Given the description of an element on the screen output the (x, y) to click on. 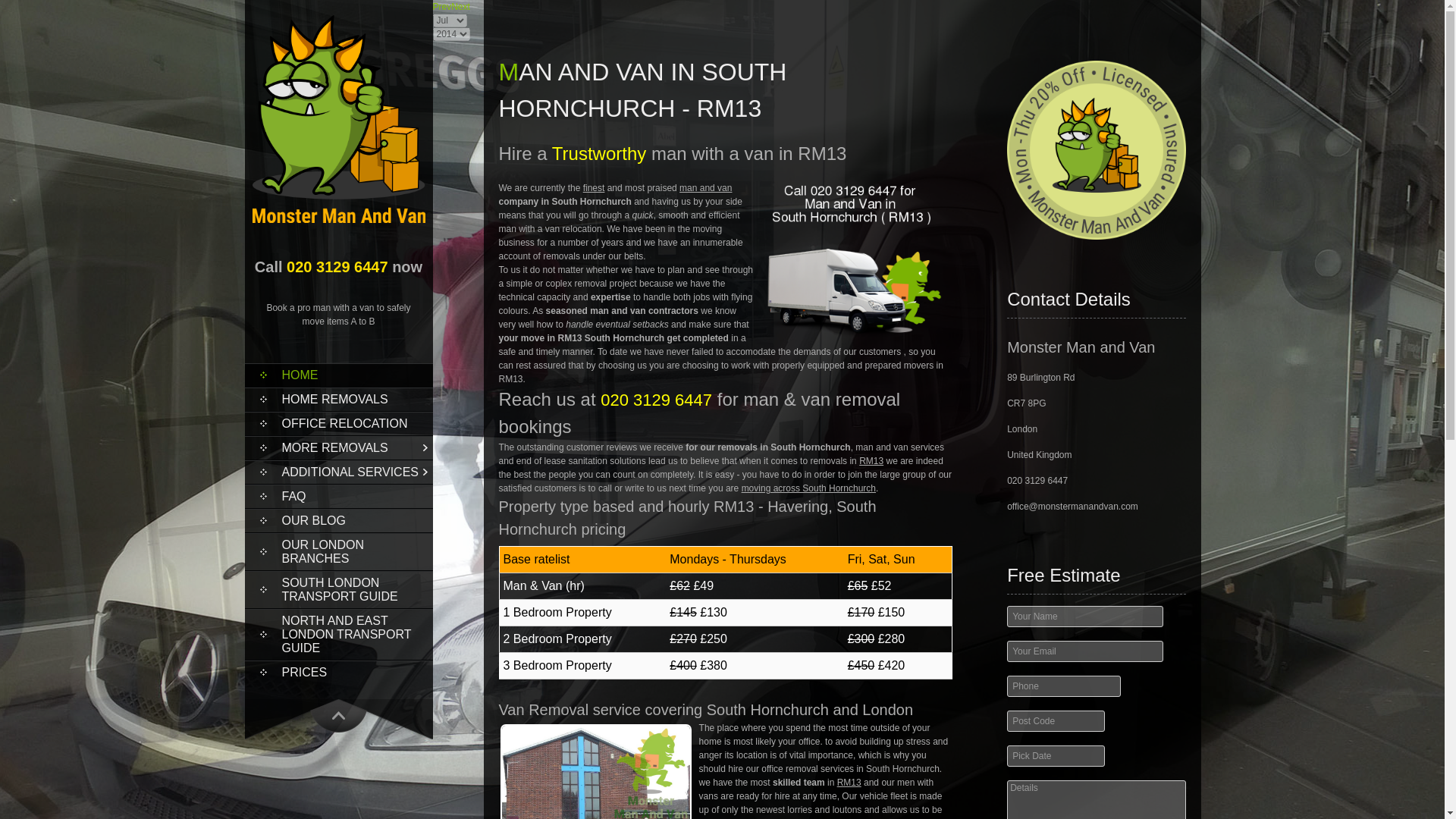
HOME REMOVALS (338, 399)
MORE REMOVALS (338, 447)
Next (460, 6)
SOUTH LONDON TRANSPORT GUIDE (338, 589)
HOME (338, 374)
020 3129 6447 (336, 266)
OFFICE RELOCATION (338, 423)
South Hornchurch RM13 Man with a van (595, 771)
OUR LONDON BRANCHES (338, 551)
SKIP TO CONTENT (298, 369)
Prev (441, 6)
ADDITIONAL SERVICES (338, 472)
Prev (441, 6)
FAQ (338, 496)
PRICES (338, 671)
